Given the description of an element on the screen output the (x, y) to click on. 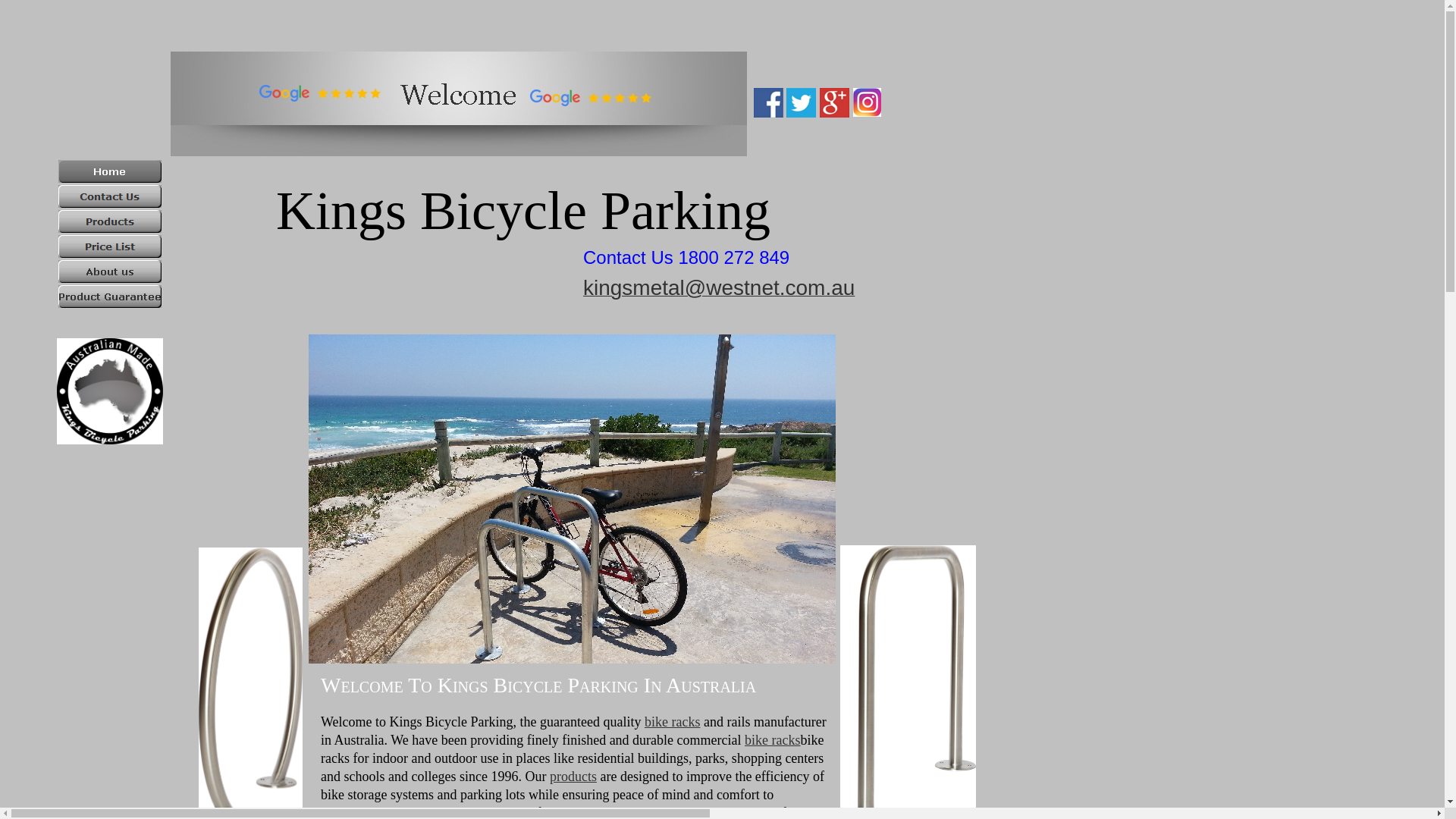
Welcome Element type: hover (458, 103)
products Element type: text (572, 776)
Instagram Element type: hover (866, 102)
bike racks Element type: text (671, 721)
About us Element type: hover (109, 271)
kingsmetal@westnet.com.au Element type: text (718, 291)
Aust logo Element type: hover (109, 391)
Twitter Element type: hover (800, 102)
Google plus Element type: hover (834, 102)
Product Guarantee Element type: hover (109, 296)
Products Element type: hover (109, 221)
Bicycle Racks Element type: hover (571, 531)
bike racks Element type: text (772, 739)
Price List Element type: hover (109, 246)
Contact Us Element type: hover (109, 196)
facebook Element type: hover (768, 102)
Home Element type: hover (109, 171)
